Given the description of an element on the screen output the (x, y) to click on. 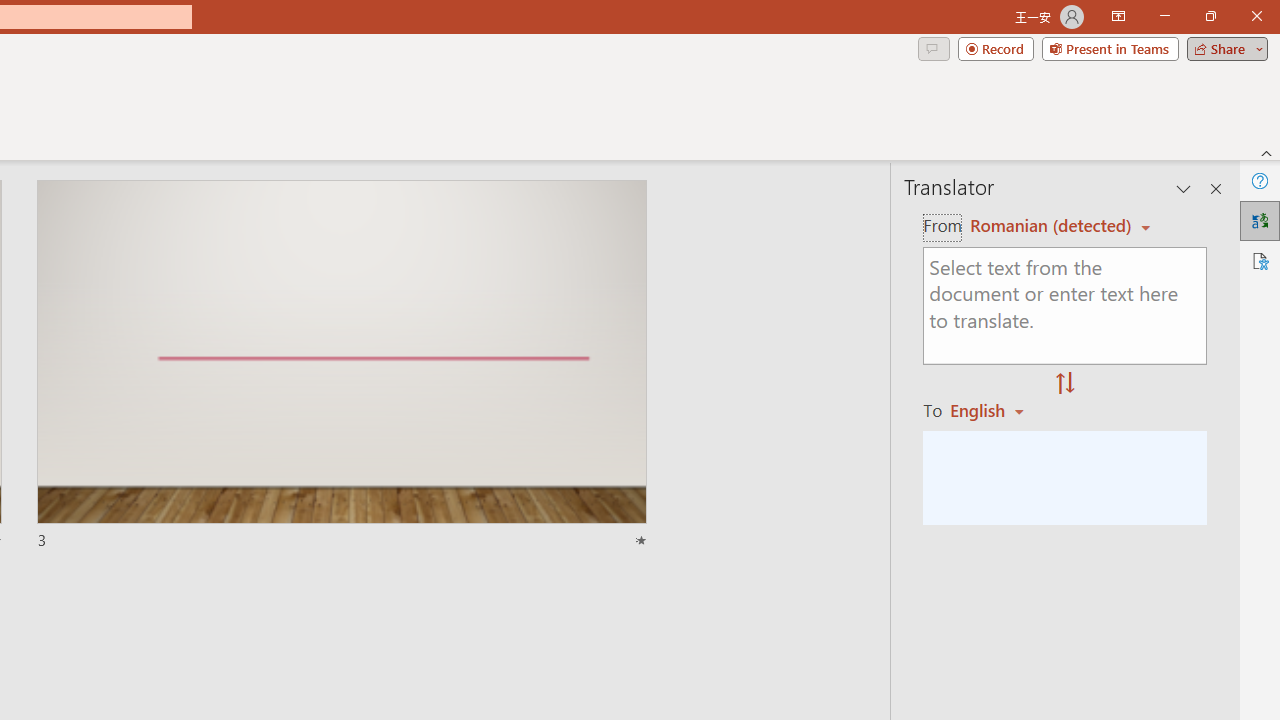
Czech (detected) (1047, 225)
Swap "from" and "to" languages. (1065, 383)
